Given the description of an element on the screen output the (x, y) to click on. 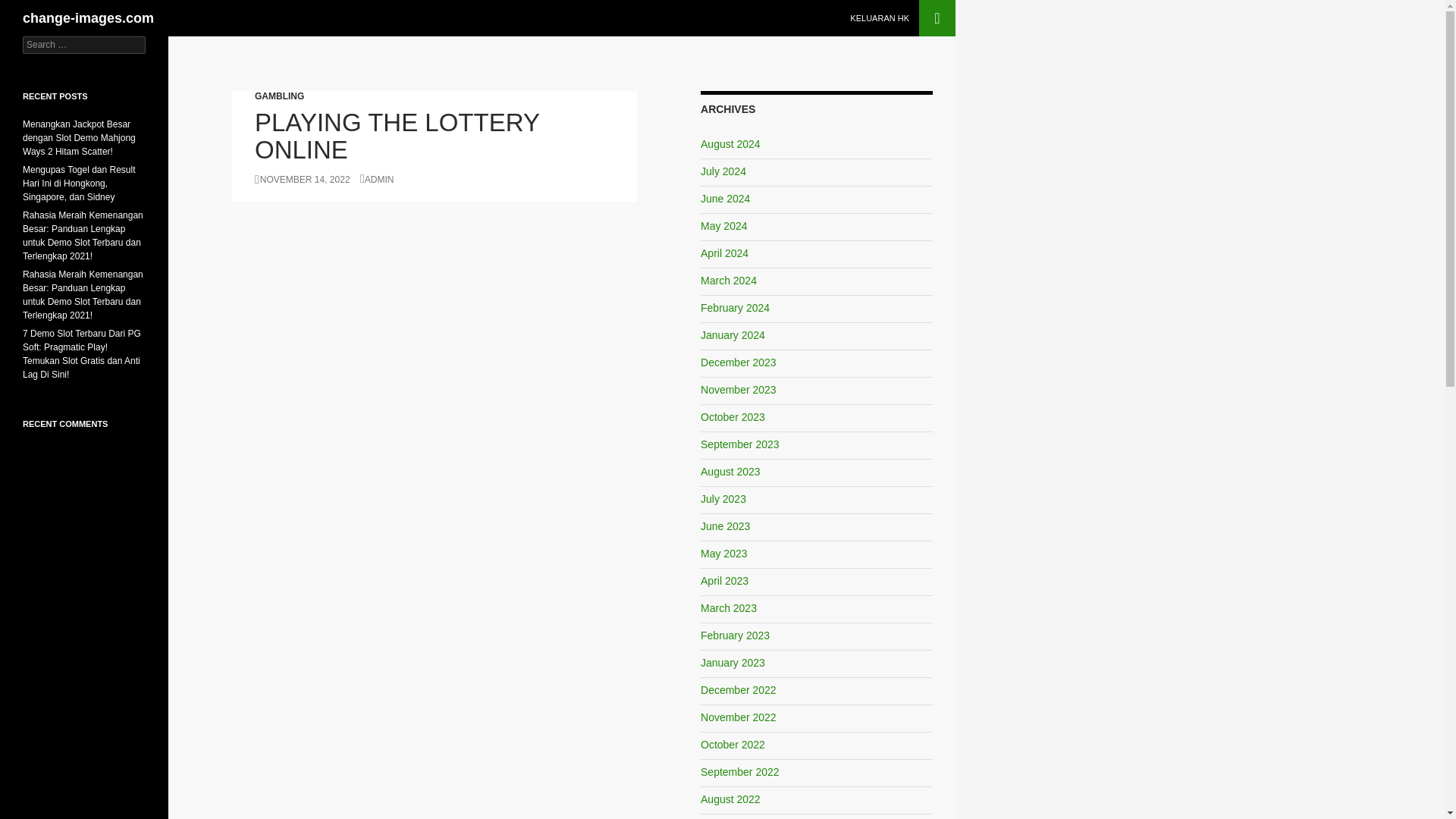
June 2023 (724, 526)
GAMBLING (279, 95)
April 2024 (724, 253)
NOVEMBER 14, 2022 (302, 179)
KELUARAN HK (879, 18)
February 2024 (735, 307)
May 2024 (723, 225)
August 2023 (730, 471)
ADMIN (376, 179)
August 2022 (730, 799)
